Given the description of an element on the screen output the (x, y) to click on. 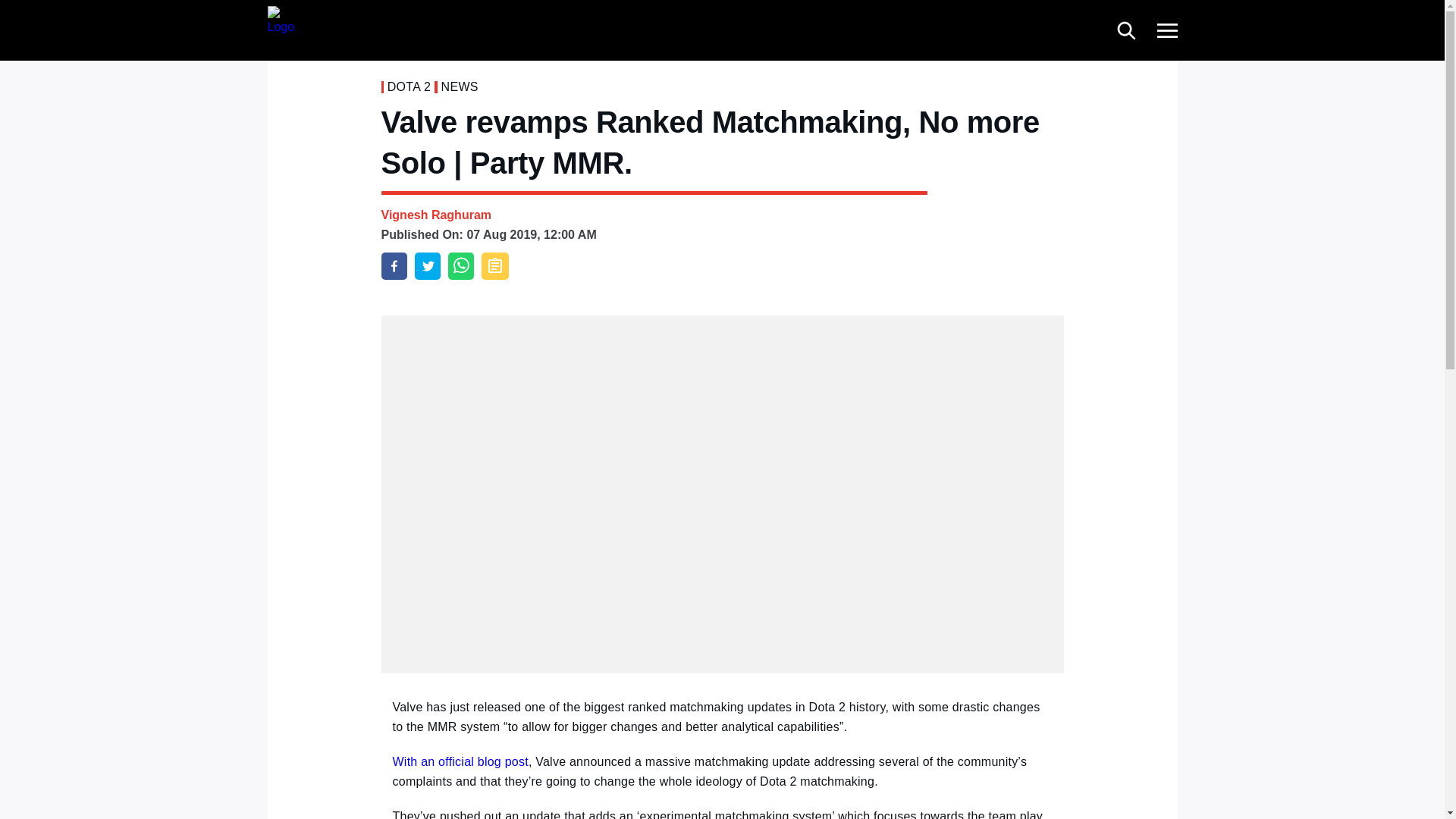
DOTA 2 (408, 87)
NEWS (460, 87)
Vignesh Raghuram (436, 214)
With an official blog post (460, 761)
